Given the description of an element on the screen output the (x, y) to click on. 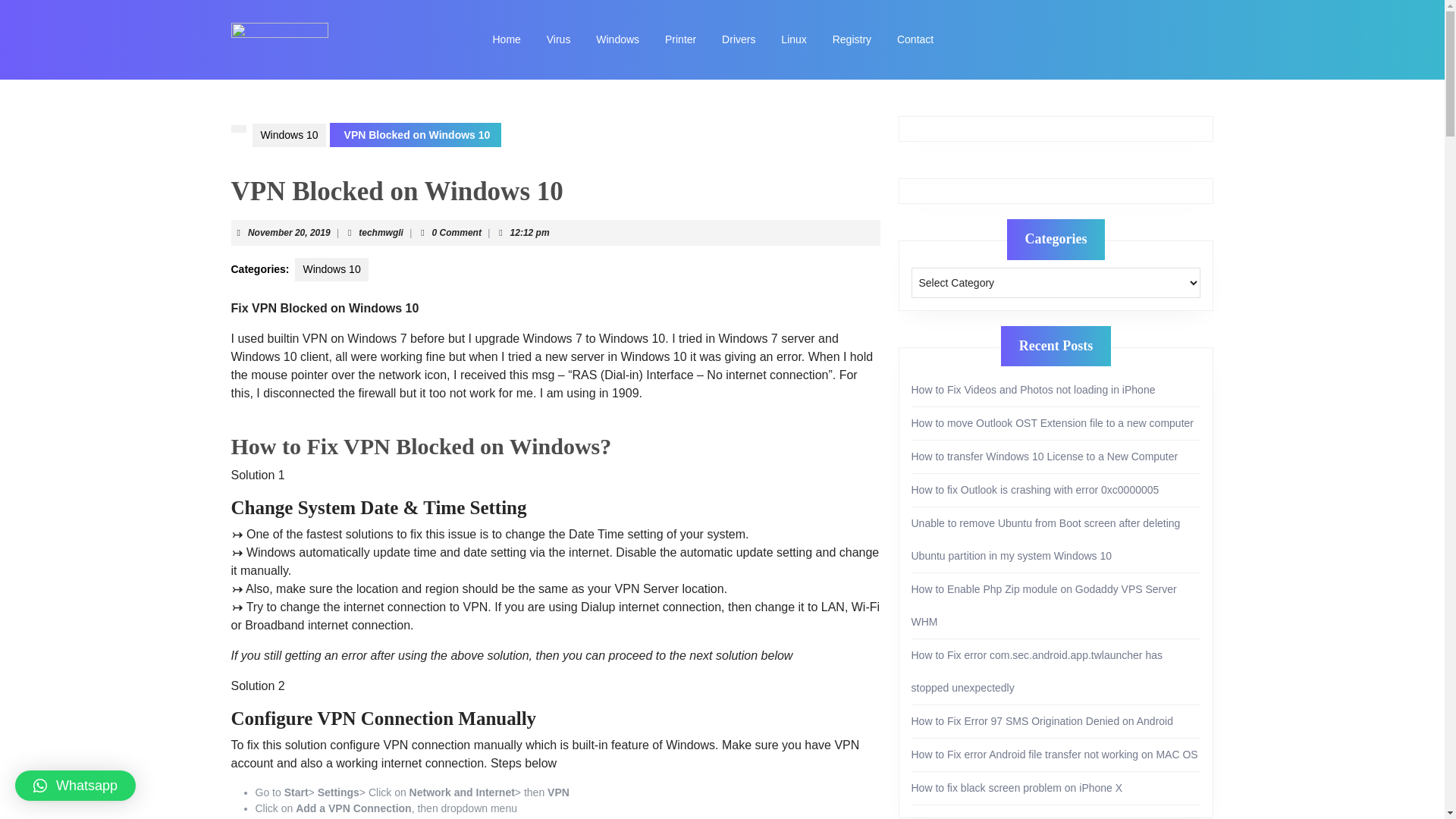
Windows 10 (331, 269)
Linux (793, 39)
Drivers (738, 39)
Home (505, 39)
Printer (680, 39)
How to move Outlook OST Extension file to a new computer (1052, 422)
Windows 10 (380, 232)
Virus (287, 135)
Registry (558, 39)
